Given the description of an element on the screen output the (x, y) to click on. 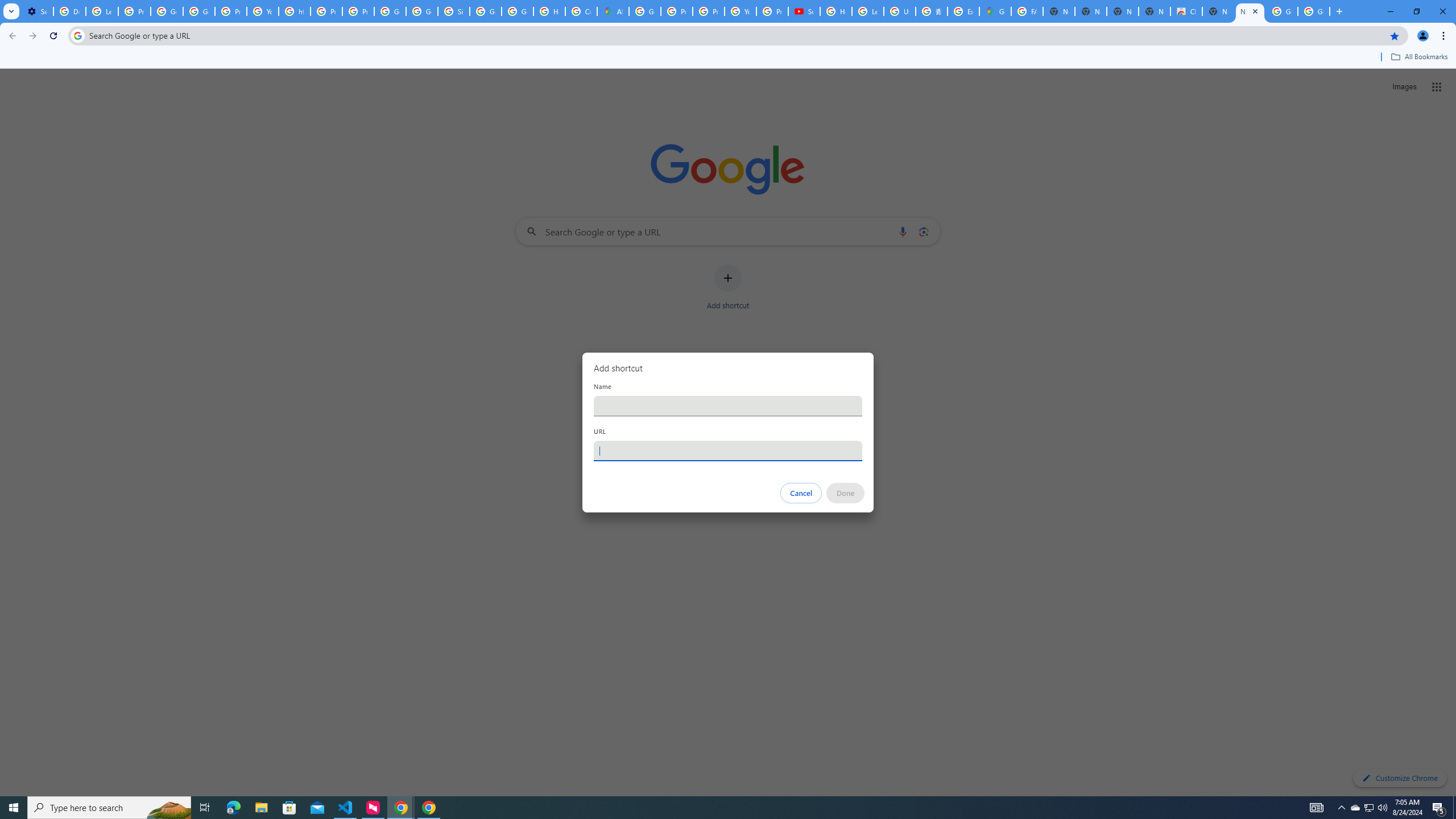
Name (727, 405)
Google Account Help (166, 11)
YouTube (740, 11)
YouTube (262, 11)
Privacy Help Center - Policies Help (326, 11)
Privacy Help Center - Policies Help (708, 11)
https://scholar.google.com/ (294, 11)
Delete photos & videos - Computer - Google Photos Help (69, 11)
